Given the description of an element on the screen output the (x, y) to click on. 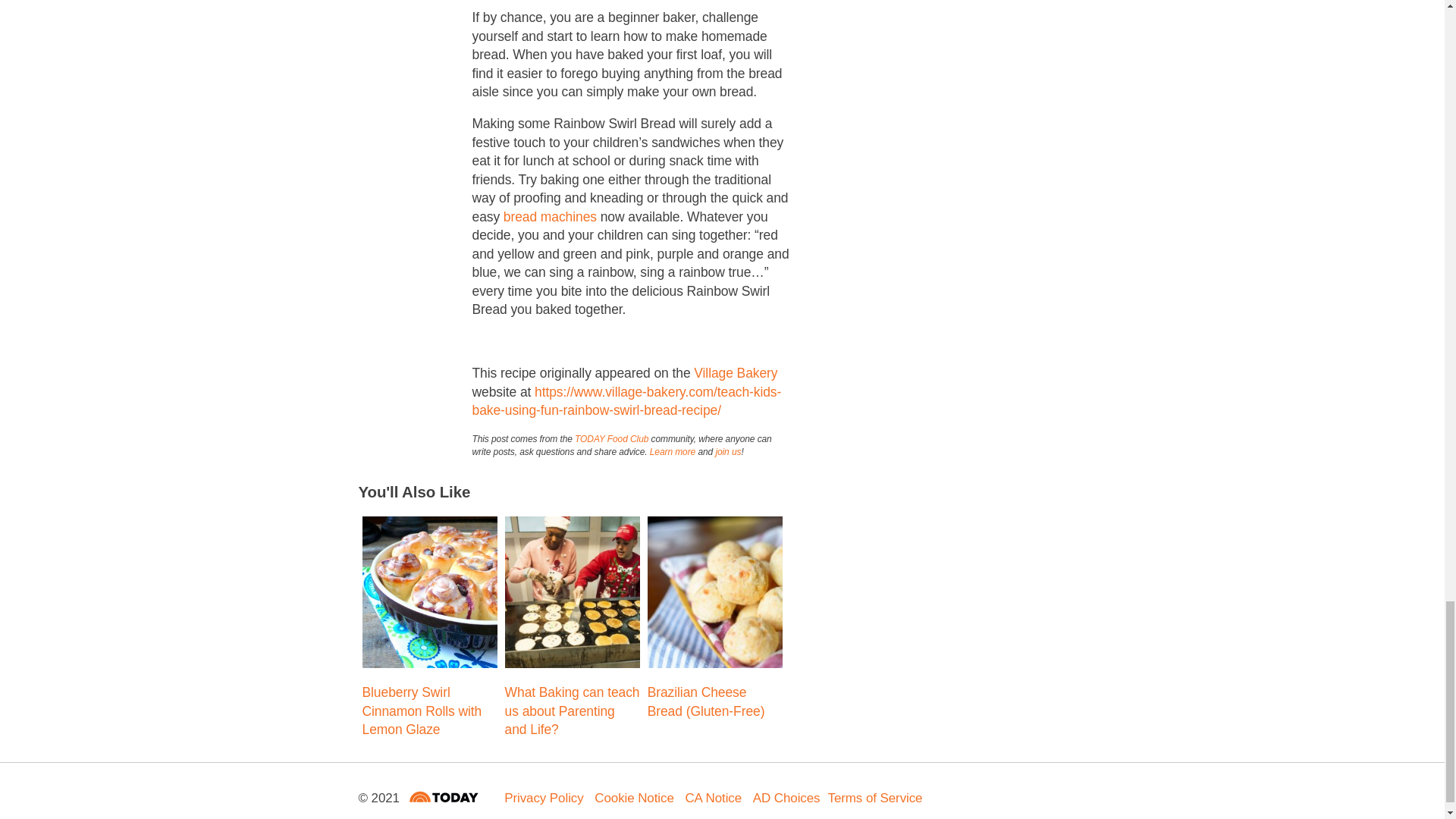
Village Bakery (735, 372)
TODAY Food Club (611, 439)
bread machines (549, 216)
Learn more (672, 451)
join us (727, 451)
